Given the description of an element on the screen output the (x, y) to click on. 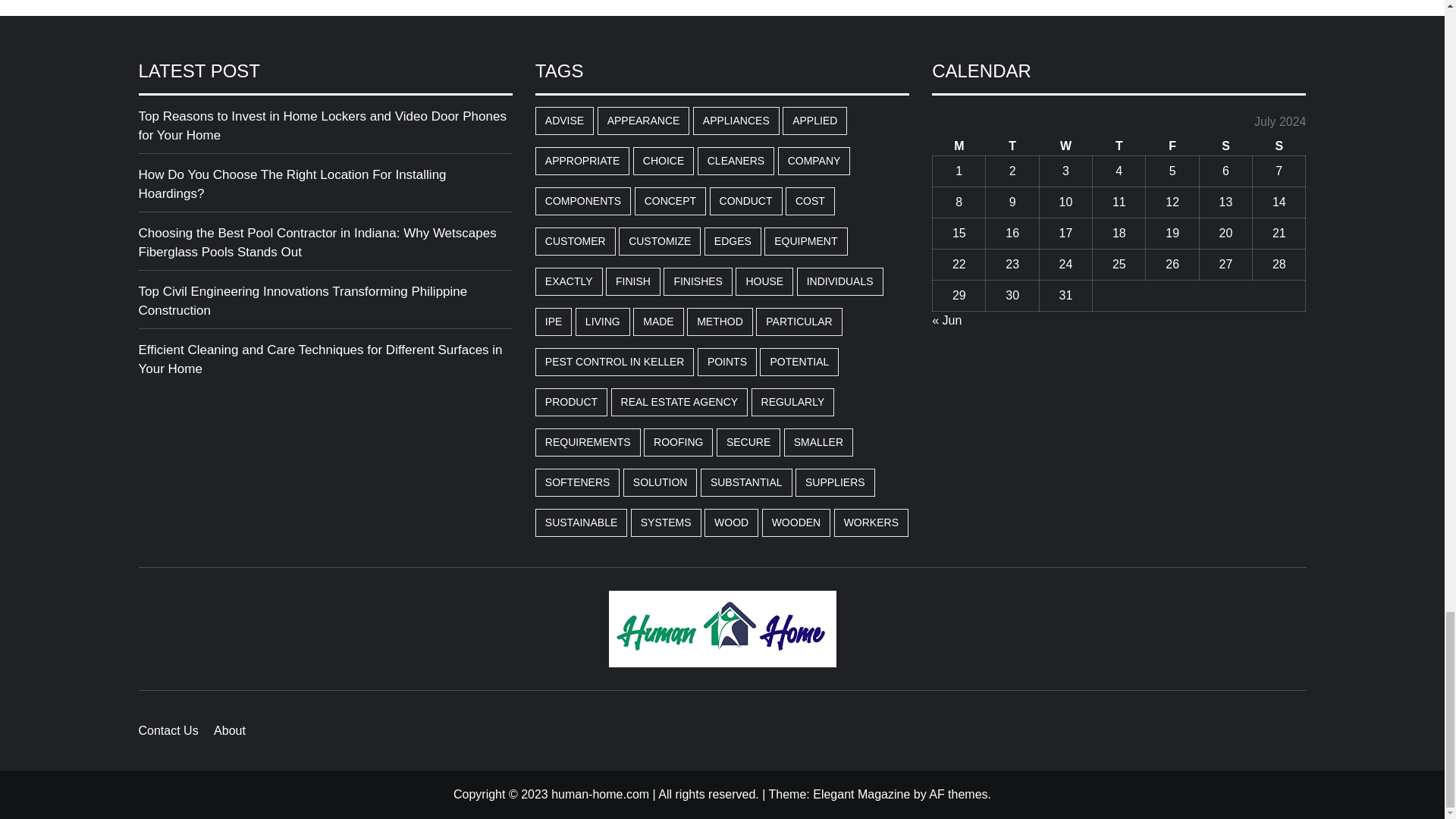
Wednesday (1065, 146)
Friday (1171, 146)
Saturday (1225, 146)
Thursday (1119, 146)
Sunday (1279, 146)
Tuesday (1012, 146)
Monday (959, 146)
